Given the description of an element on the screen output the (x, y) to click on. 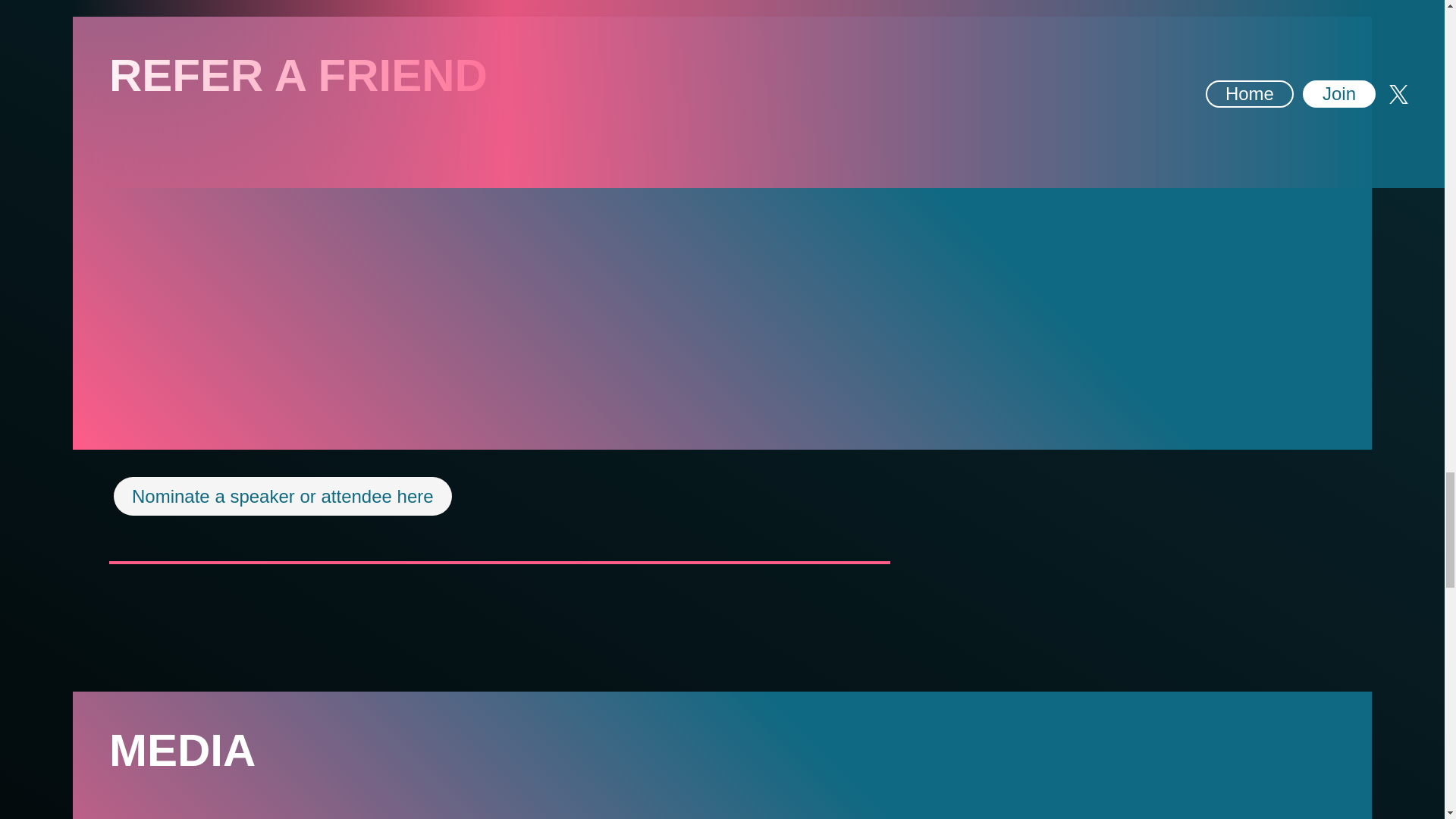
Nominate a speaker or attendee here (282, 496)
Nominate a speaker or attendee here (282, 496)
